Given the description of an element on the screen output the (x, y) to click on. 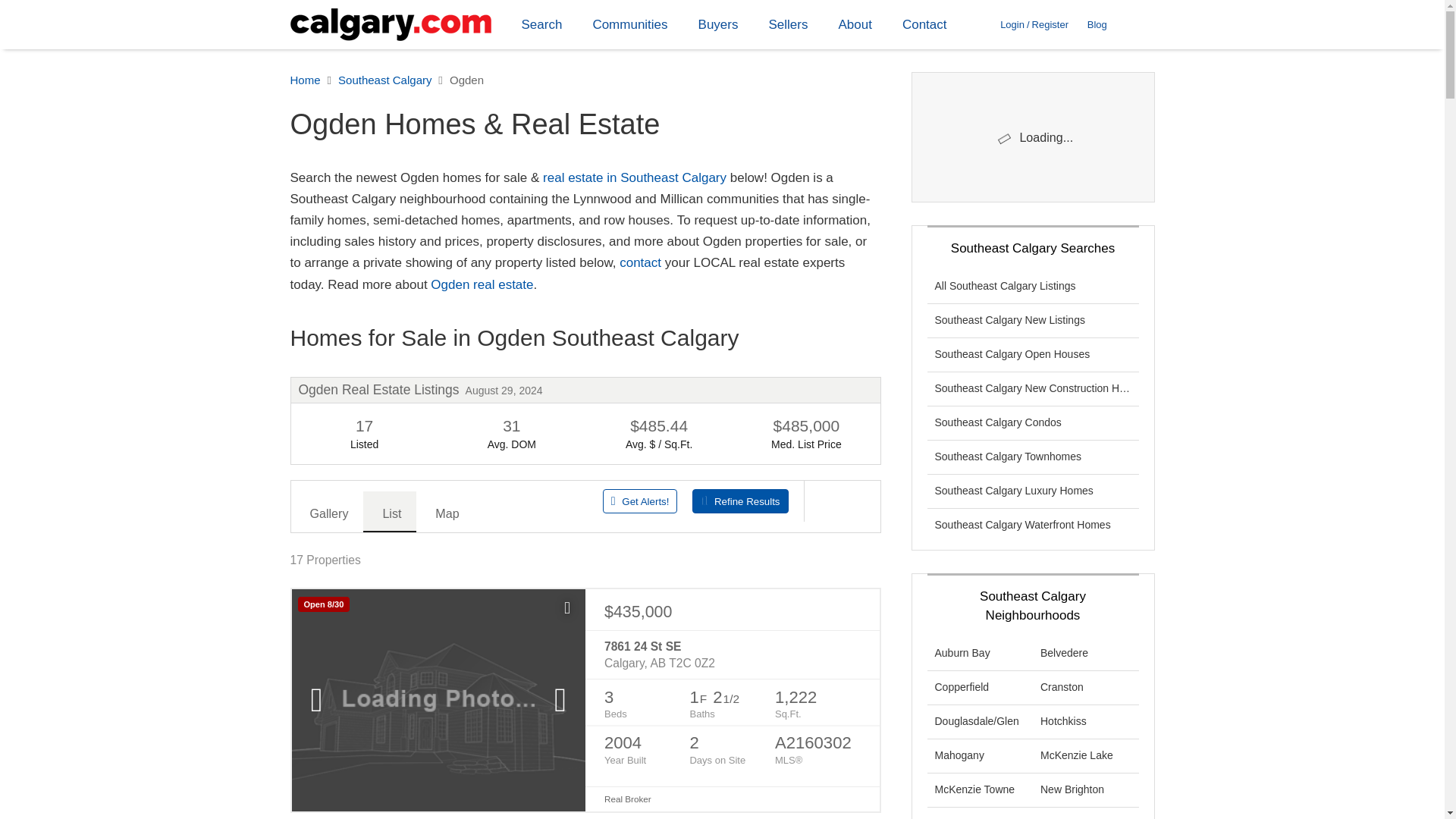
Communities (629, 24)
Buyers (718, 24)
Select Language (1140, 24)
Search (542, 24)
Homes for Sale in Ogden Southeast Calgary (584, 338)
7861 24 St SE Calgary,  AB T2C 0Z2 (732, 655)
